Given the description of an element on the screen output the (x, y) to click on. 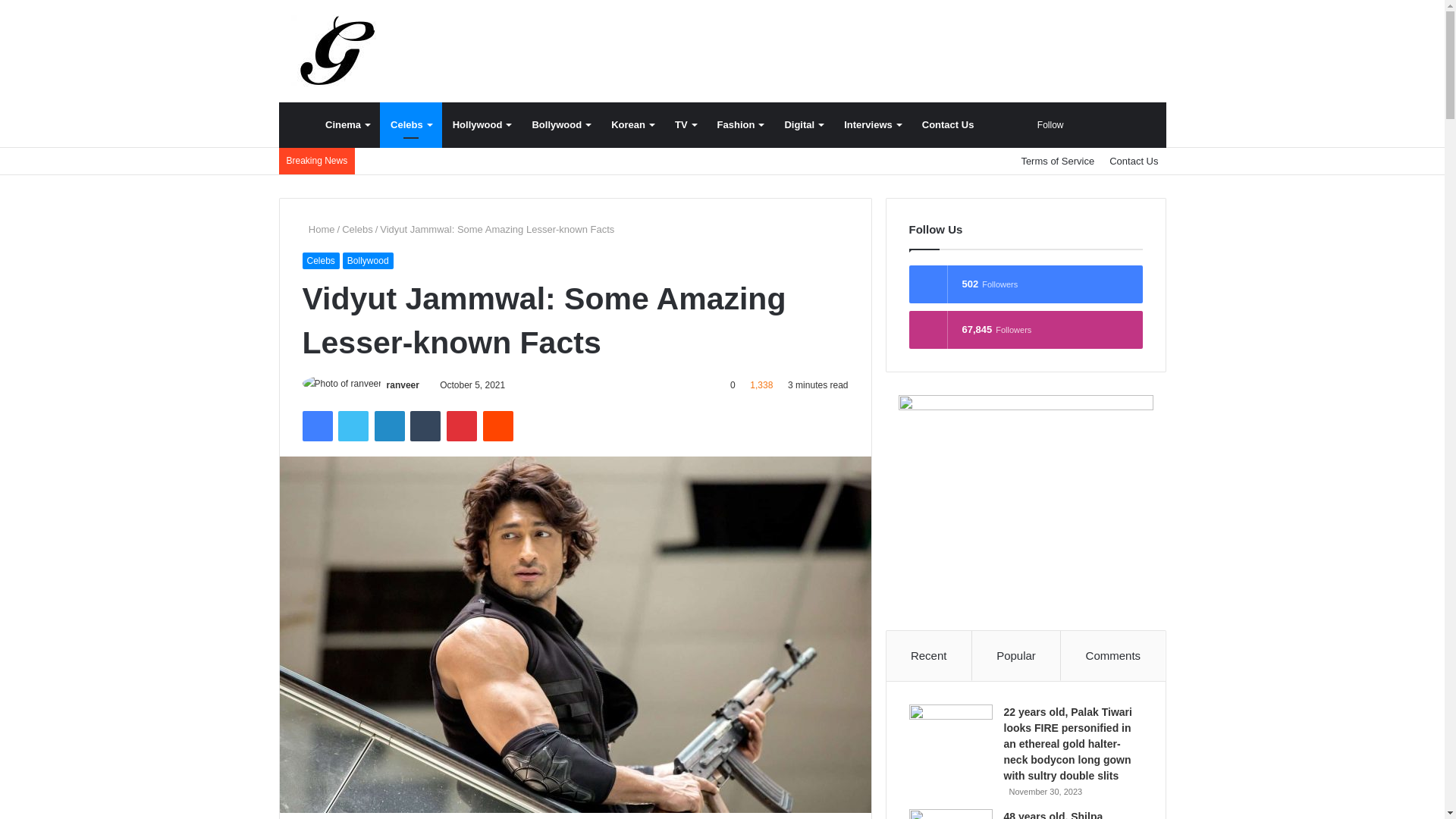
Korean (631, 125)
GHAWYY (336, 50)
Celebs (411, 125)
Twitter (352, 426)
Facebook (316, 426)
TV (684, 125)
Digital (802, 125)
Tumblr (425, 426)
Fashion (740, 125)
Hollywood (481, 125)
